Given the description of an element on the screen output the (x, y) to click on. 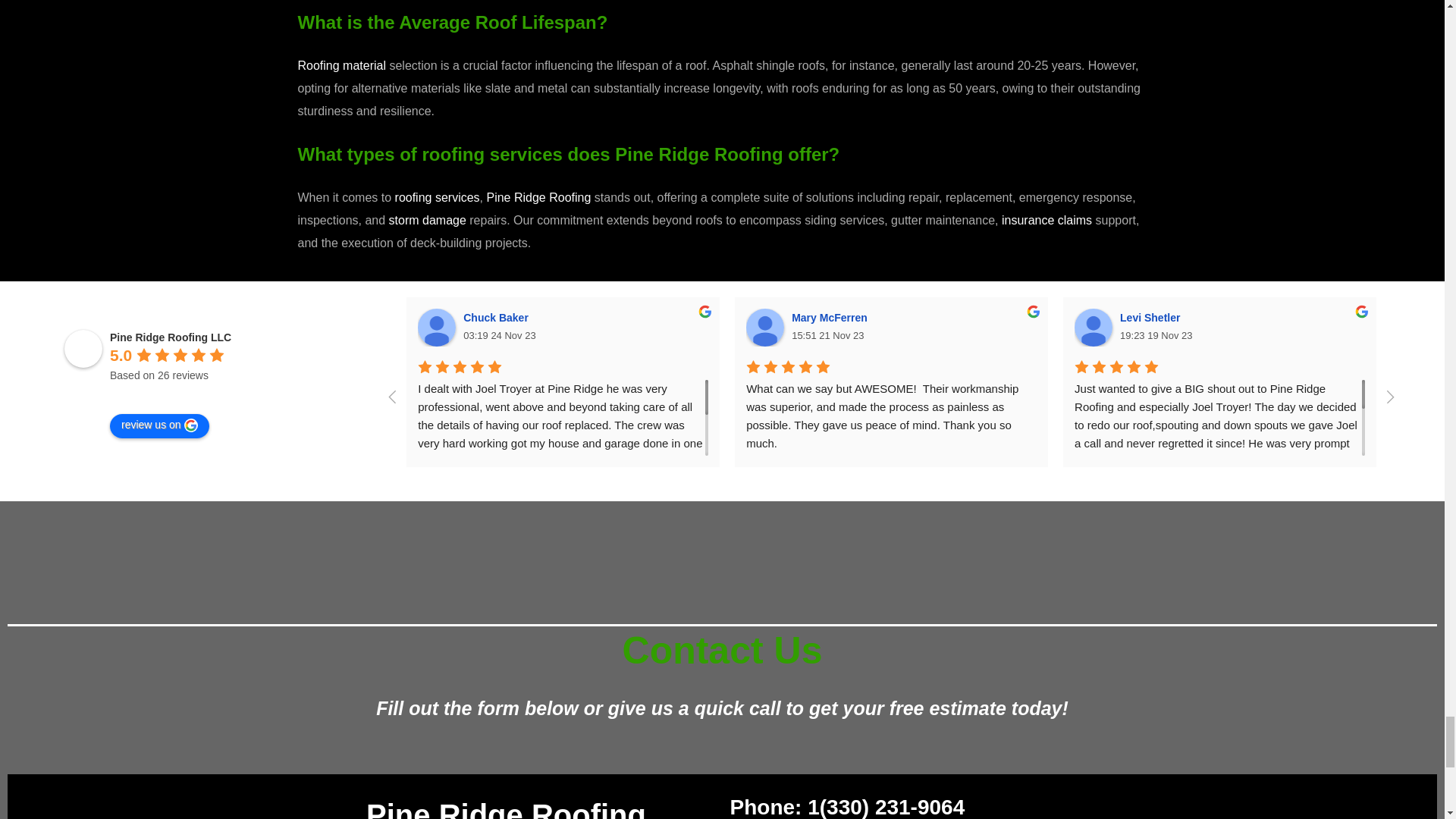
Chuck Baker (436, 327)
powered by Google (164, 394)
Pine Ridge Roofing LLC (82, 348)
